Given the description of an element on the screen output the (x, y) to click on. 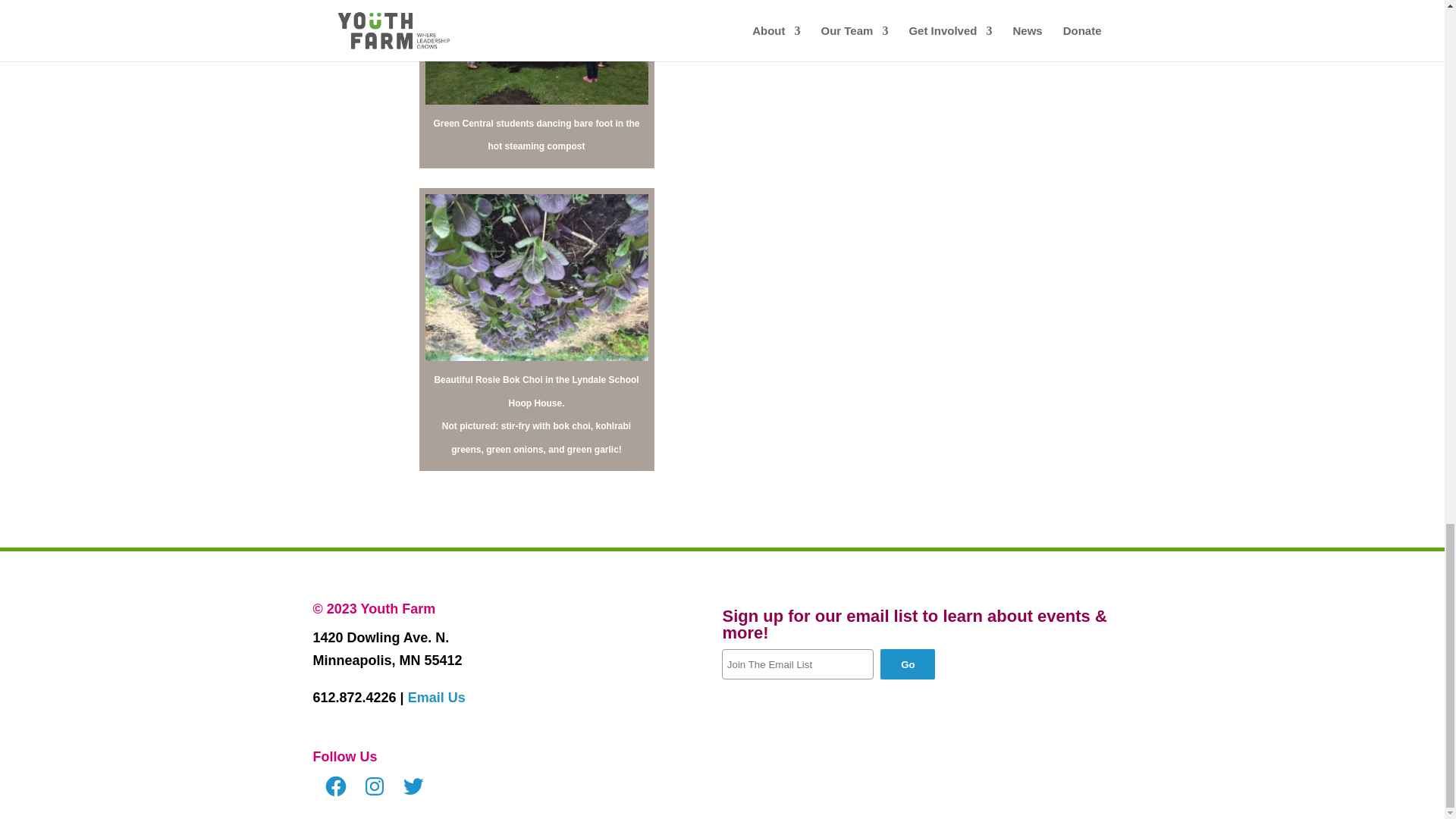
Go (907, 664)
Facebook (335, 785)
Email Us (436, 697)
